Given the description of an element on the screen output the (x, y) to click on. 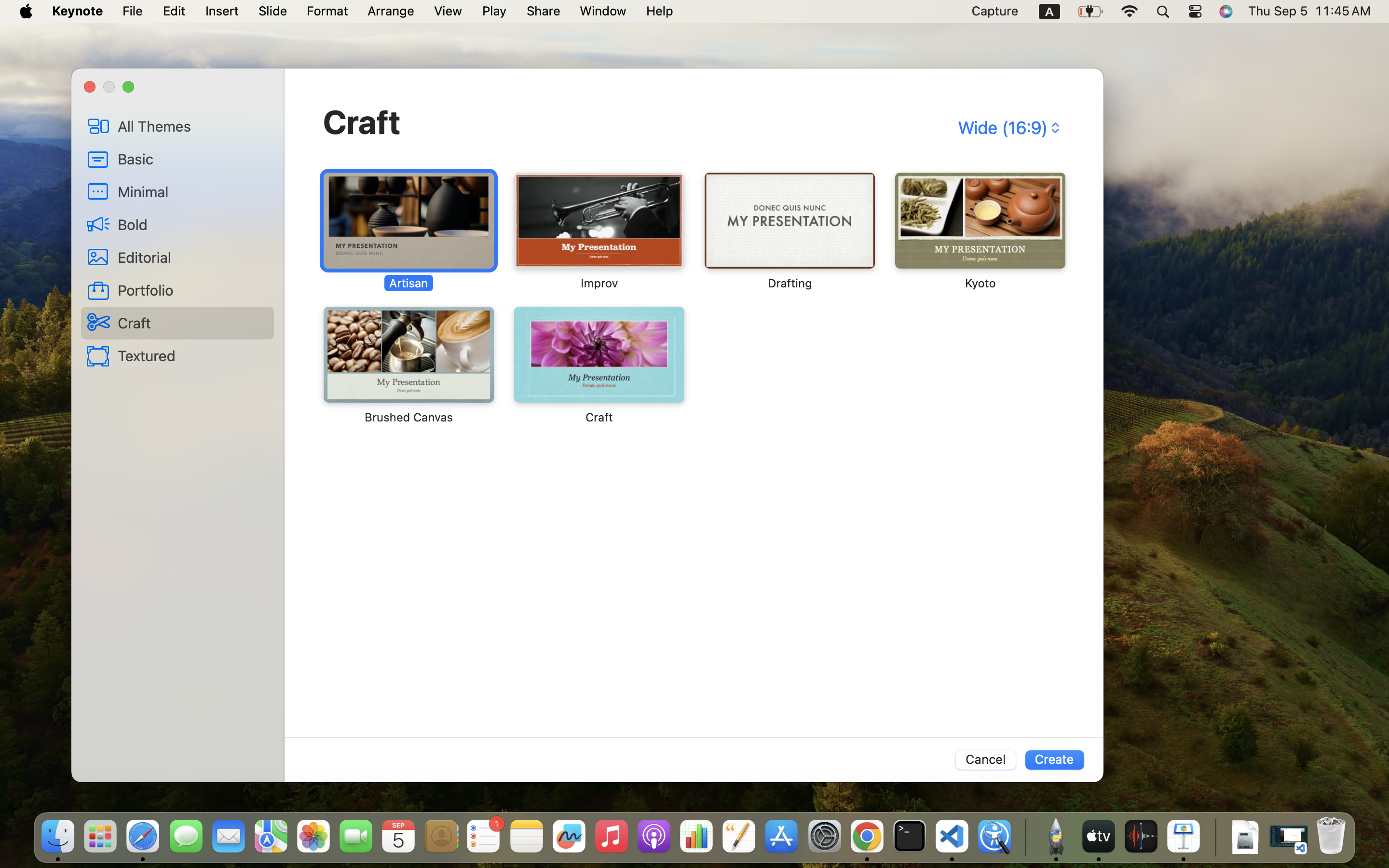
‎⁨Drafting⁩ Element type: AXButton (789, 230)
‎⁨Artisan⁩ Element type: AXButton (408, 230)
Portfolio Element type: AXStaticText (191, 289)
‎⁨Brushed Canvas⁩ Element type: AXButton (408, 365)
‎⁨Kyoto⁩ Element type: AXButton (979, 230)
